Given the description of an element on the screen output the (x, y) to click on. 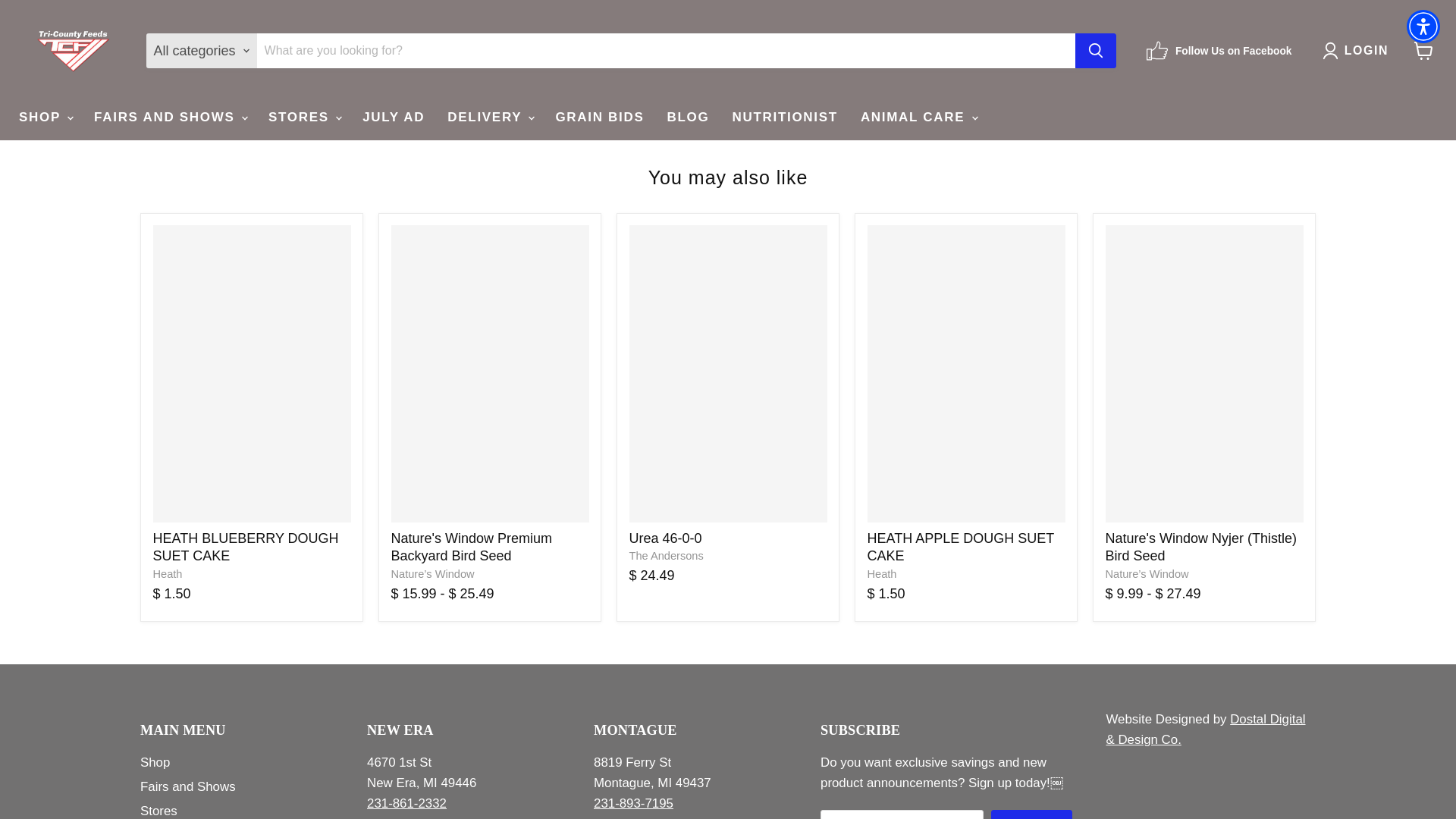
tel:231-861-2332 (406, 803)
The Andersons (665, 555)
tel:231-893-7195 (633, 803)
Heath (881, 573)
Heath (167, 573)
